Given the description of an element on the screen output the (x, y) to click on. 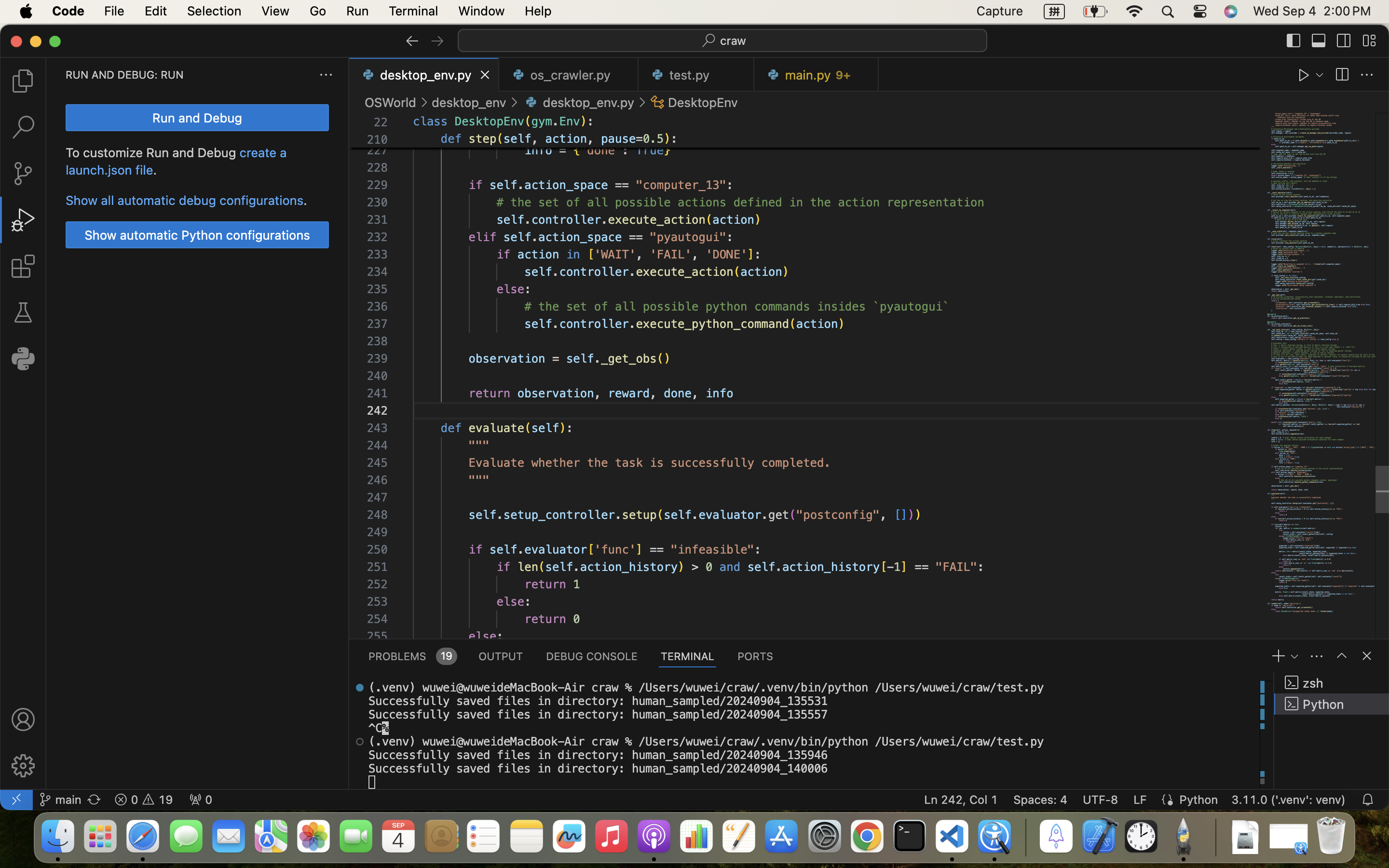
, Element type: AXStaticText (538, 138)
craw Element type: AXStaticText (733, 40)
Env Element type: AXStaticText (569, 121)
def Element type: AXStaticText (451, 138)
 Element type: AXButton (412, 40)
